Given the description of an element on the screen output the (x, y) to click on. 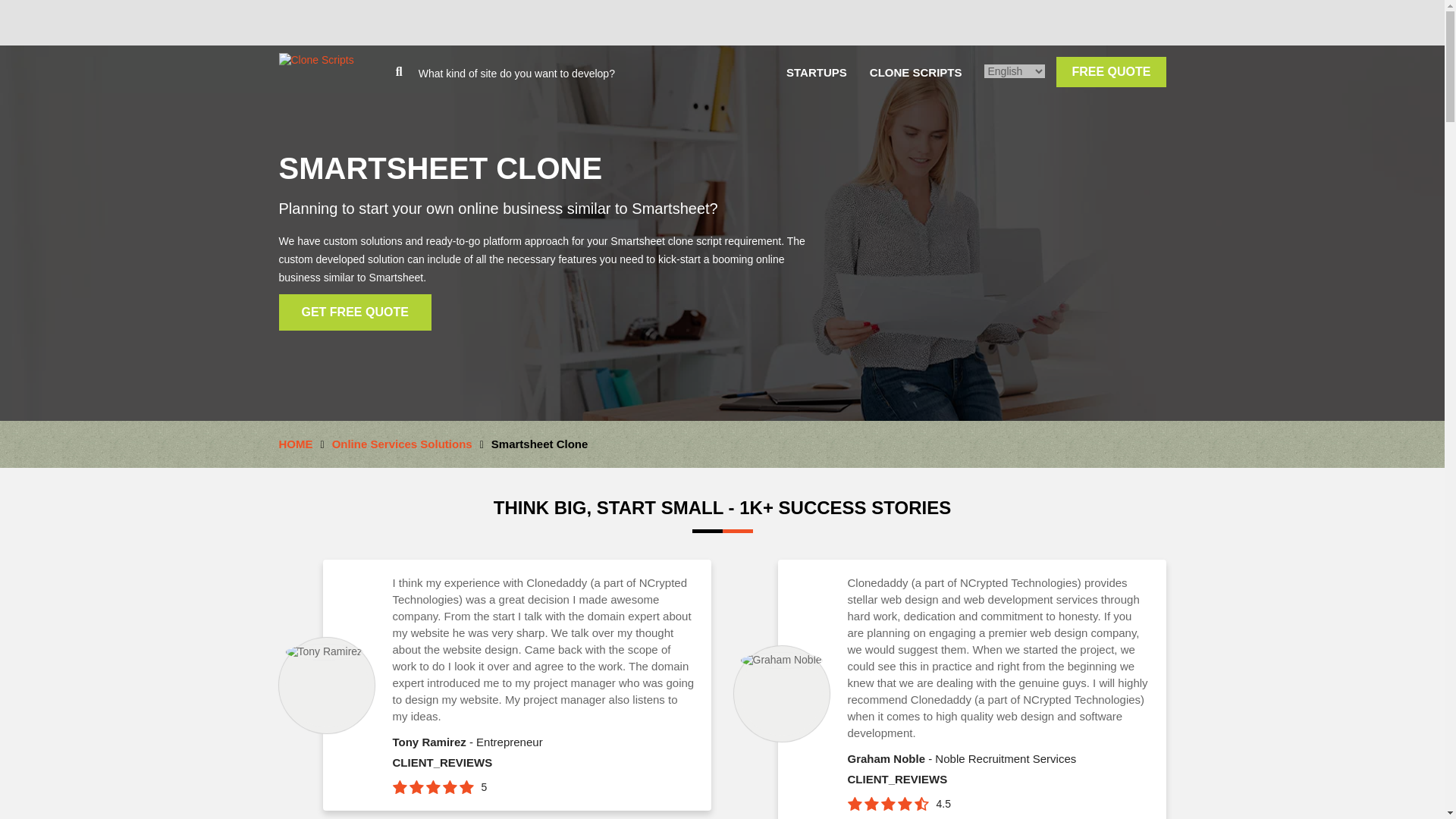
Tony Ramirez (324, 651)
CLONE SCRIPTS (915, 72)
Clone Scripts (316, 60)
HOME (296, 443)
Rating: 4.5 (887, 803)
Online Services Solutions (401, 443)
STARTUPS (816, 72)
Rating: 4.5 (943, 803)
Free Quote (1111, 71)
FREE QUOTE (1111, 71)
